Given the description of an element on the screen output the (x, y) to click on. 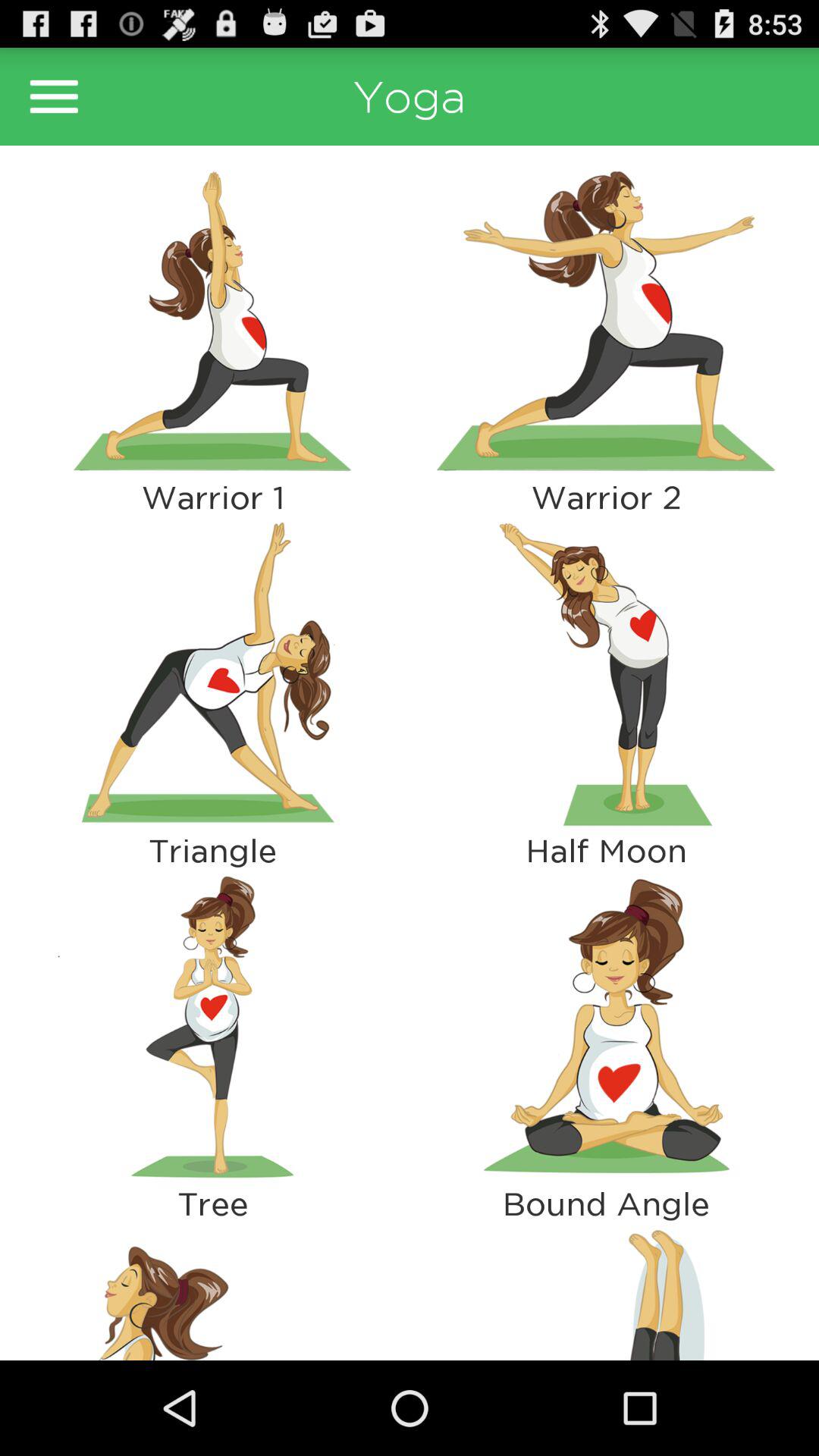
turn off app below triangle app (212, 1026)
